Given the description of an element on the screen output the (x, y) to click on. 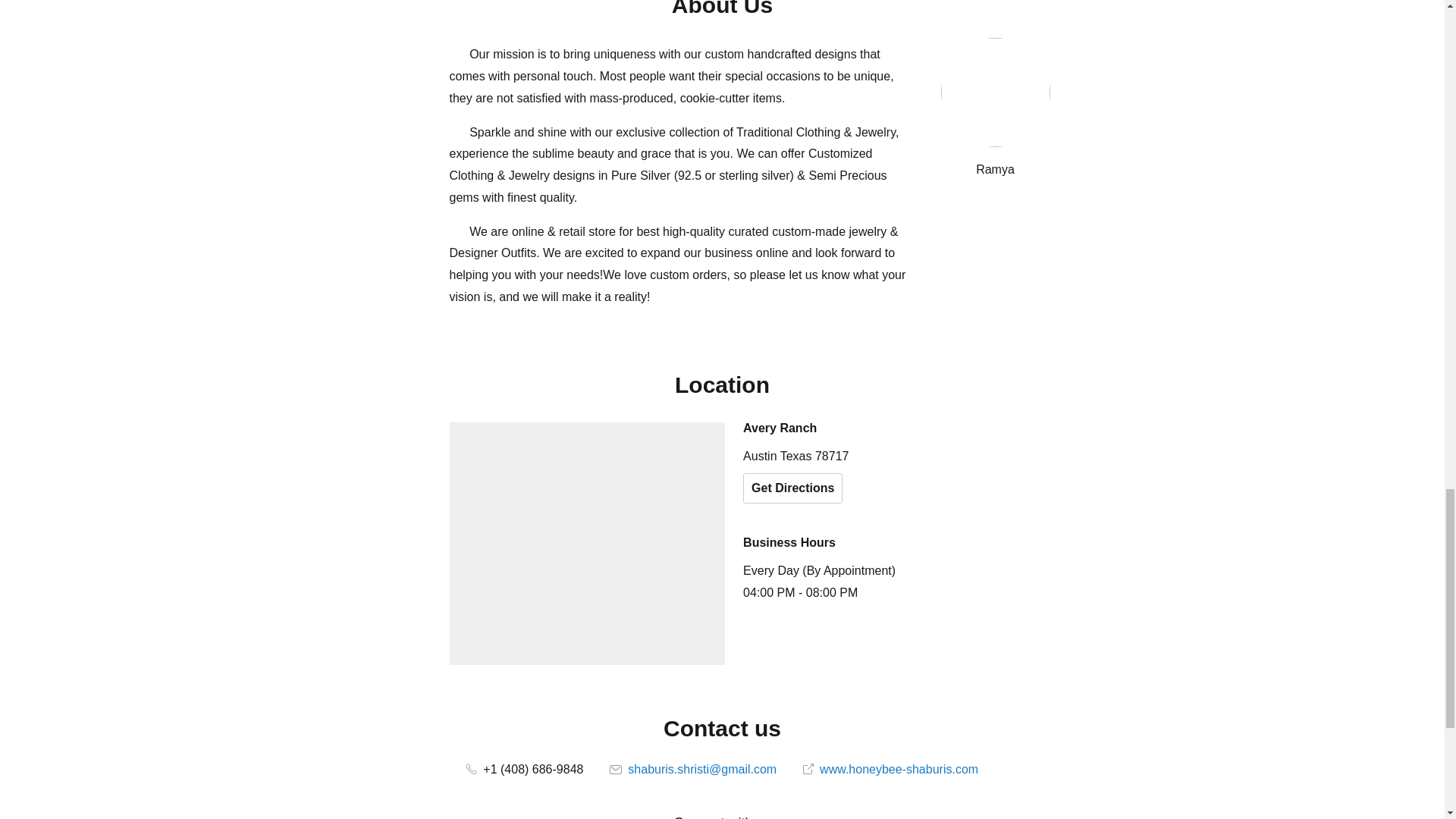
Get Directions (792, 488)
www.honeybee-shaburis.com (890, 768)
Location on map (586, 543)
